Given the description of an element on the screen output the (x, y) to click on. 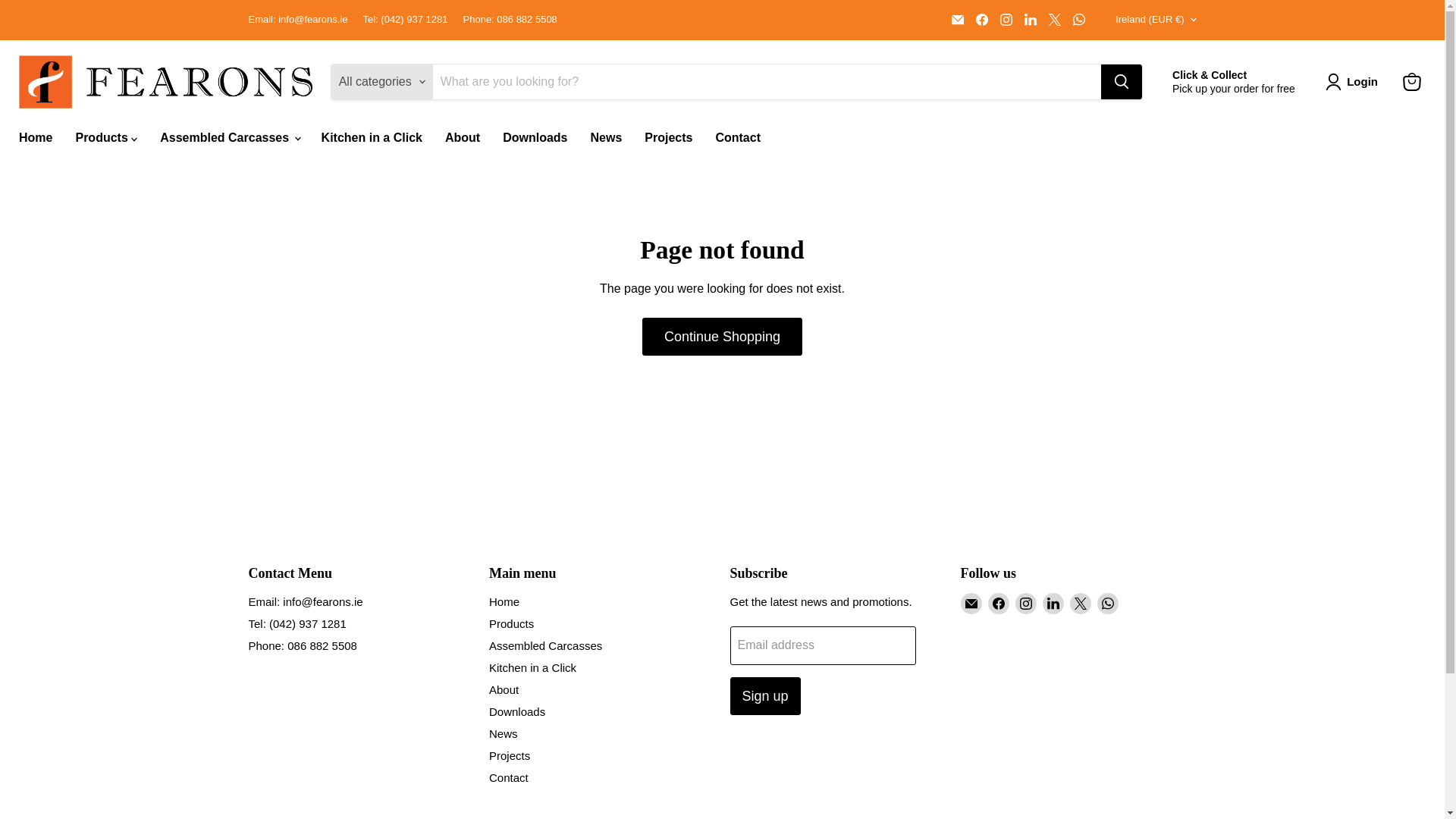
View cart (1411, 81)
Email (957, 19)
Login (1354, 81)
Facebook (998, 603)
WhatsApp (1078, 19)
Find us on X (1054, 19)
Facebook (981, 19)
Find us on LinkedIn (1030, 19)
LinkedIn (1030, 19)
Email (970, 603)
X (1054, 19)
Find us on Instagram (1005, 19)
Find us on WhatsApp (1078, 19)
Email fearons.ie (957, 19)
Instagram (1005, 19)
